Given the description of an element on the screen output the (x, y) to click on. 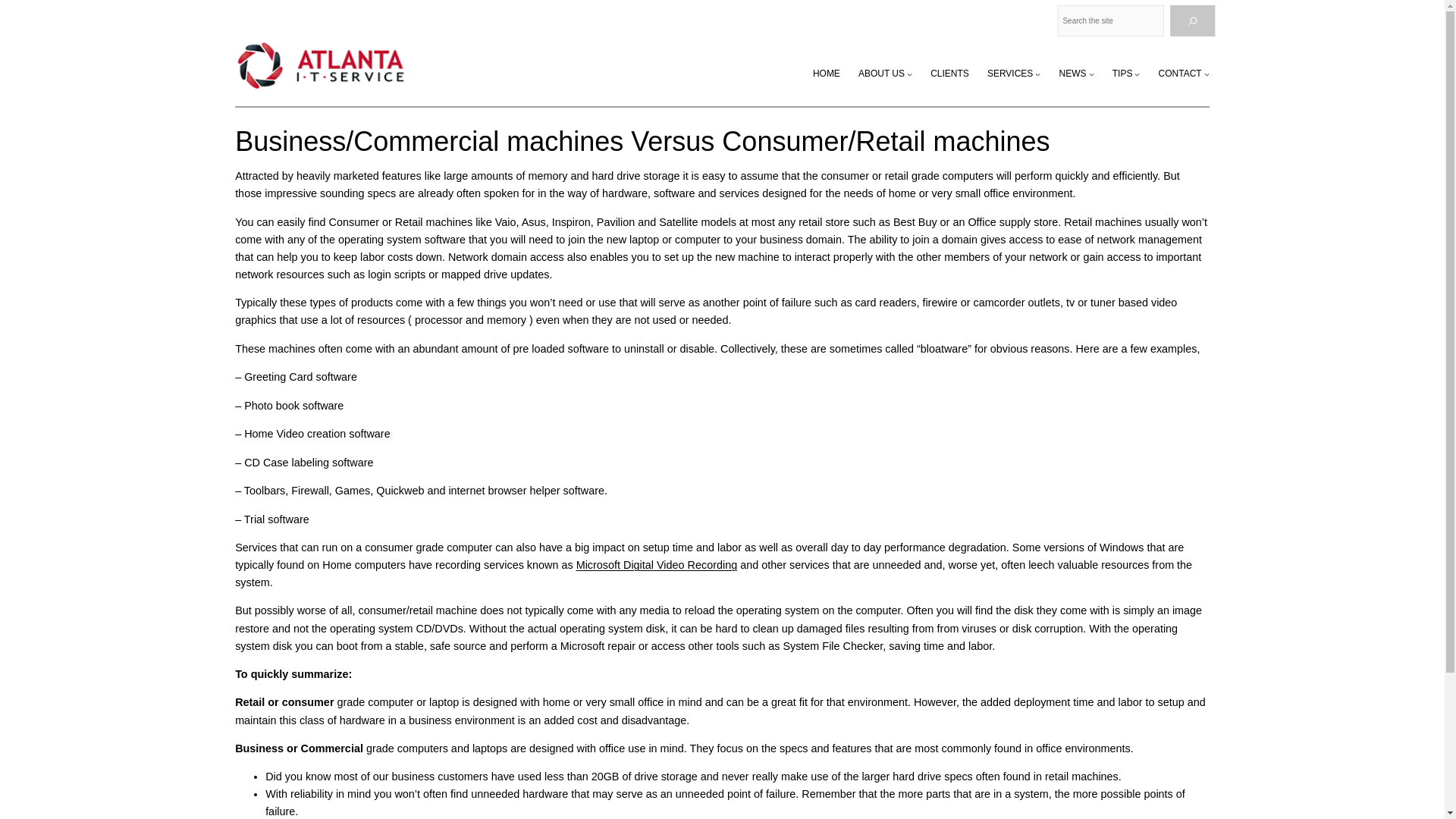
ABOUT US (881, 73)
HOME (826, 73)
Microsoft Digital Video Recording (657, 564)
CLIENTS (949, 73)
NEWS (1072, 73)
SERVICES (1009, 73)
TIPS (1122, 73)
CONTACT (1180, 73)
